Given the description of an element on the screen output the (x, y) to click on. 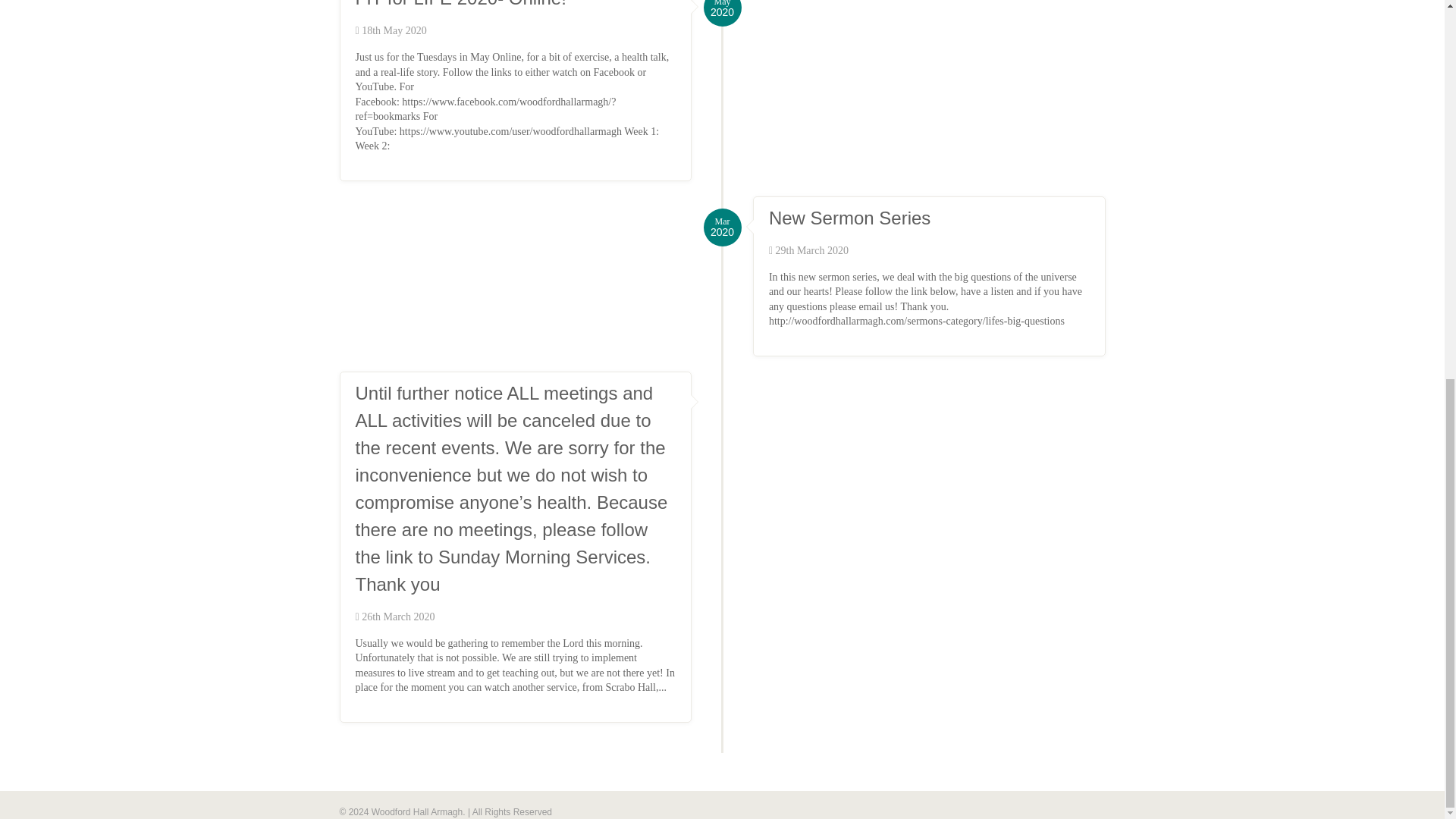
New Sermon Series (849, 218)
FIT for LIFE 2020- Online! (460, 4)
